Given the description of an element on the screen output the (x, y) to click on. 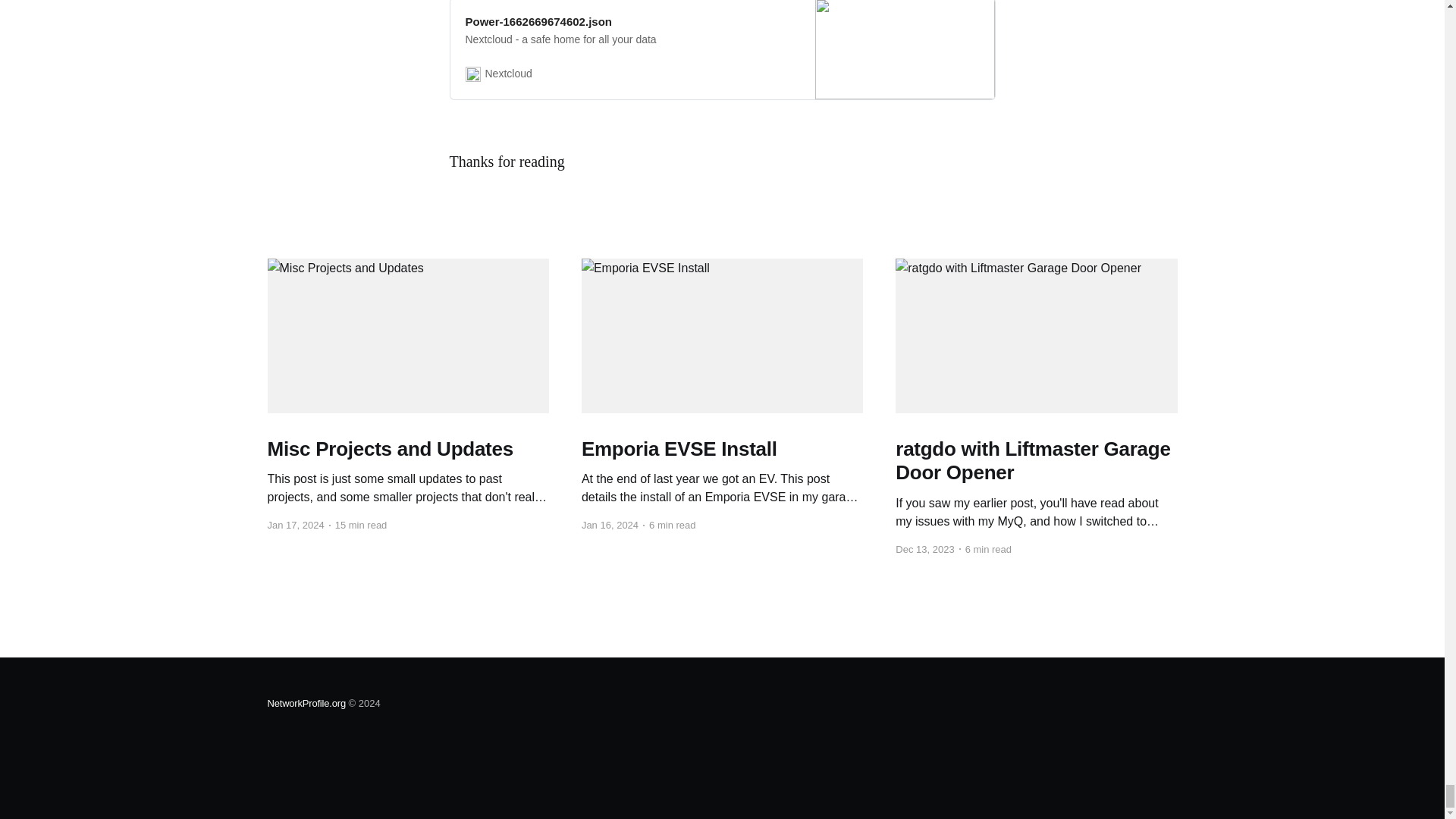
NetworkProfile.org (305, 703)
